Given the description of an element on the screen output the (x, y) to click on. 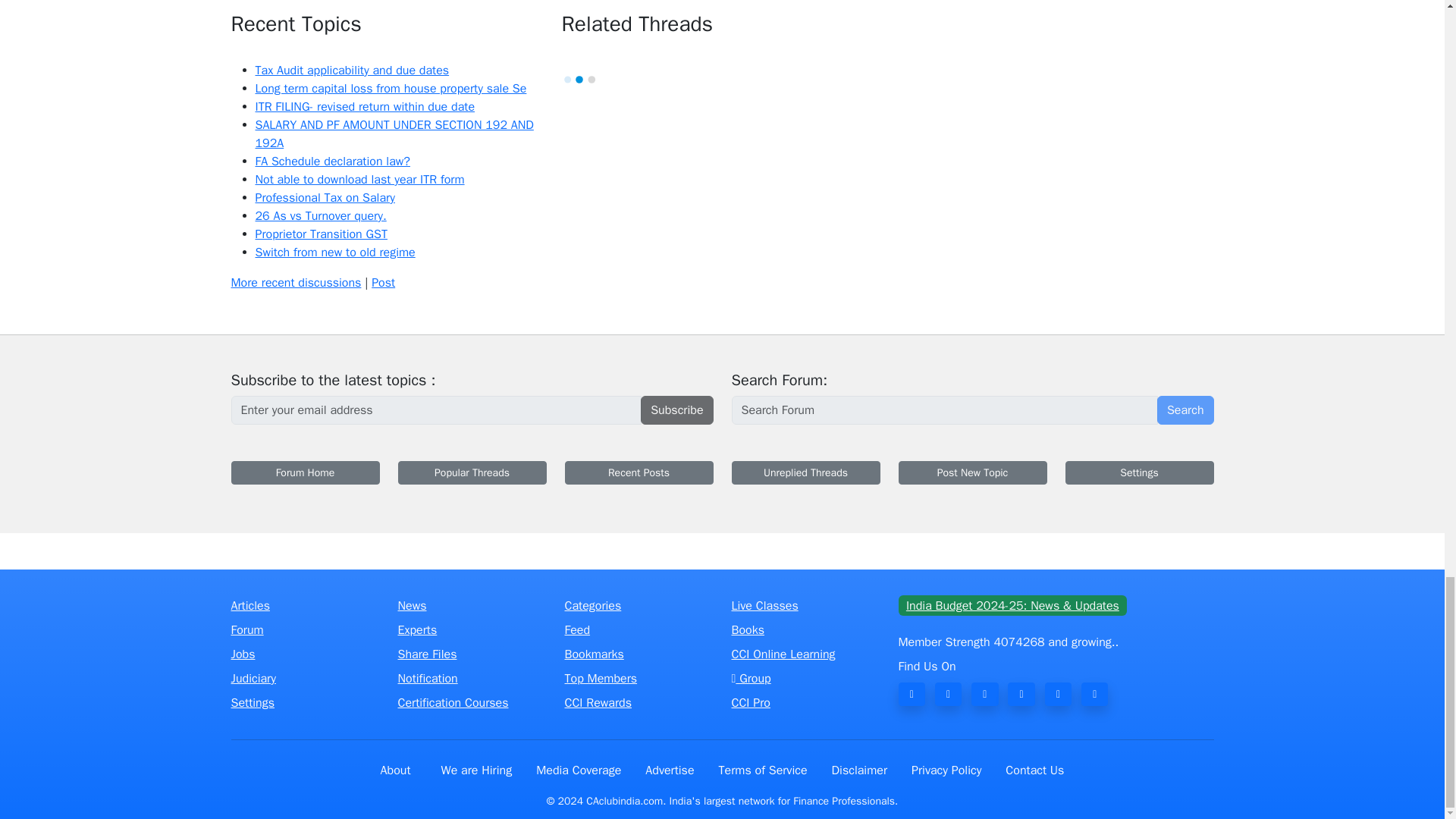
ITR FILING- revised return within due date (364, 106)
SALARY AND PF AMOUNT UNDER SECTION 192 AND 192A (393, 133)
Tax Audit applicability and due dates (351, 70)
